Given the description of an element on the screen output the (x, y) to click on. 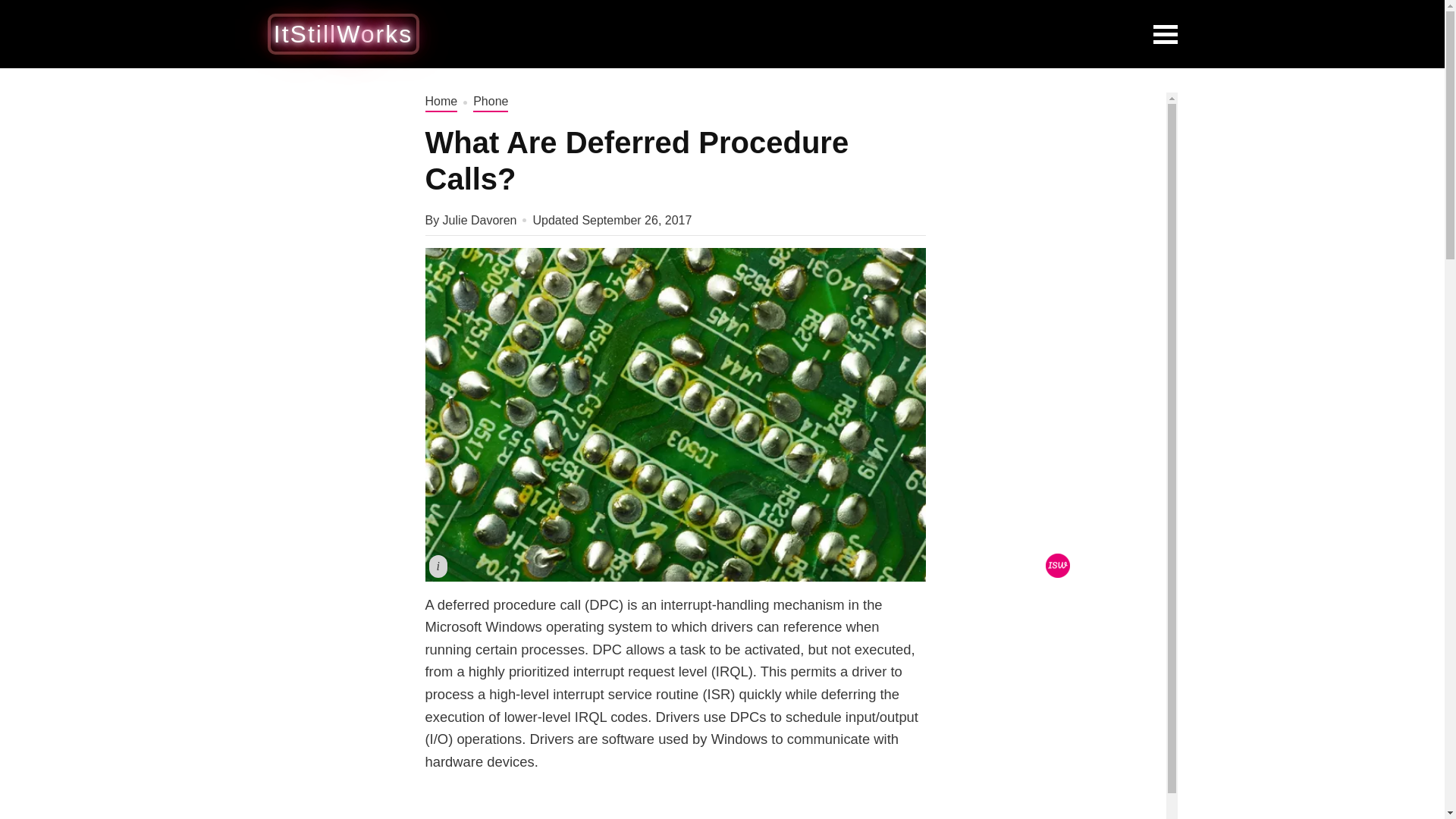
Home (441, 102)
Phone (490, 102)
ItStillWorks (342, 33)
